Given the description of an element on the screen output the (x, y) to click on. 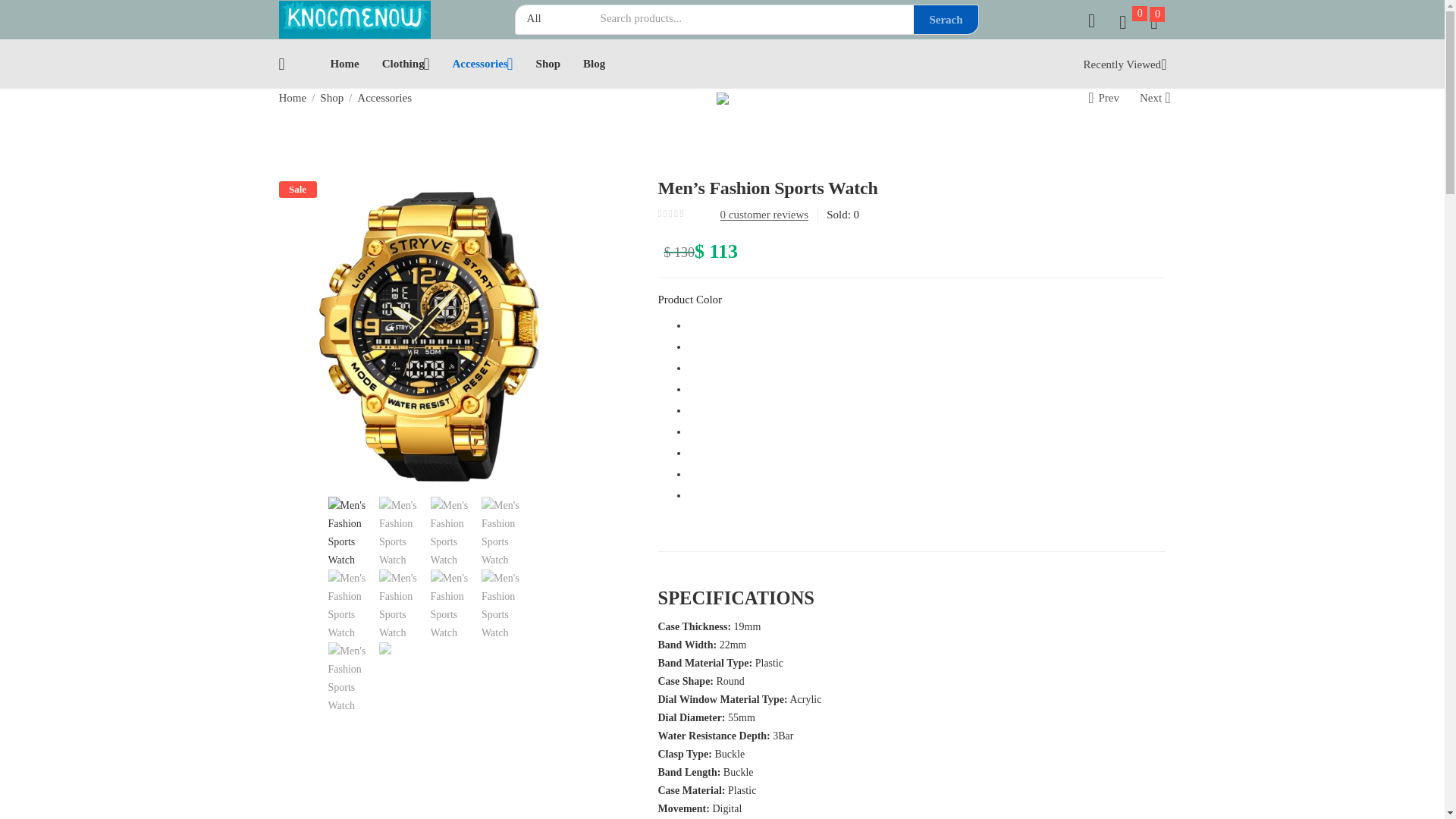
Clothing (405, 64)
Serach (945, 19)
Men's Fashion Sports Watch (430, 334)
Home (344, 63)
